Given the description of an element on the screen output the (x, y) to click on. 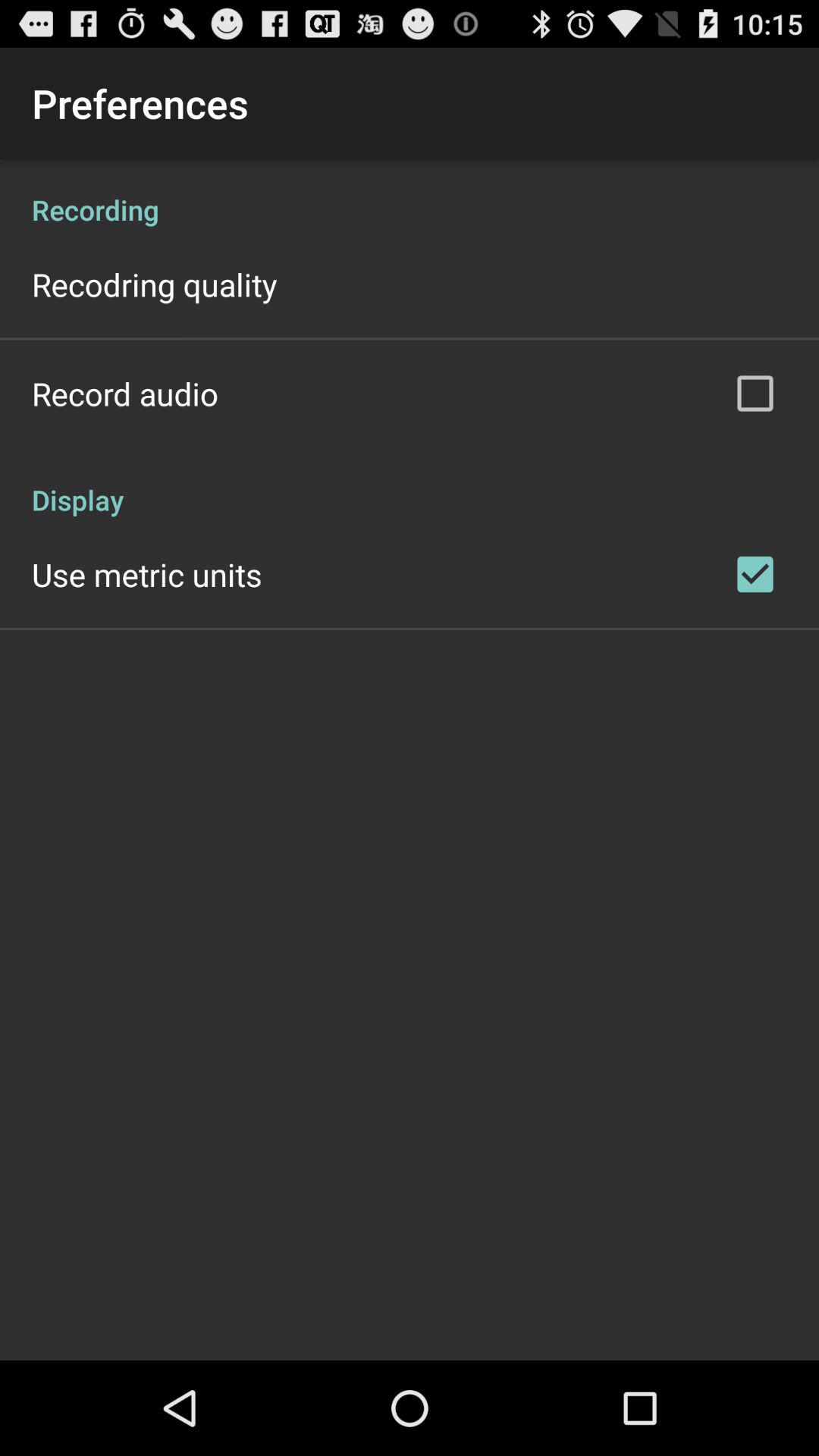
turn off item above the record audio icon (154, 283)
